Given the description of an element on the screen output the (x, y) to click on. 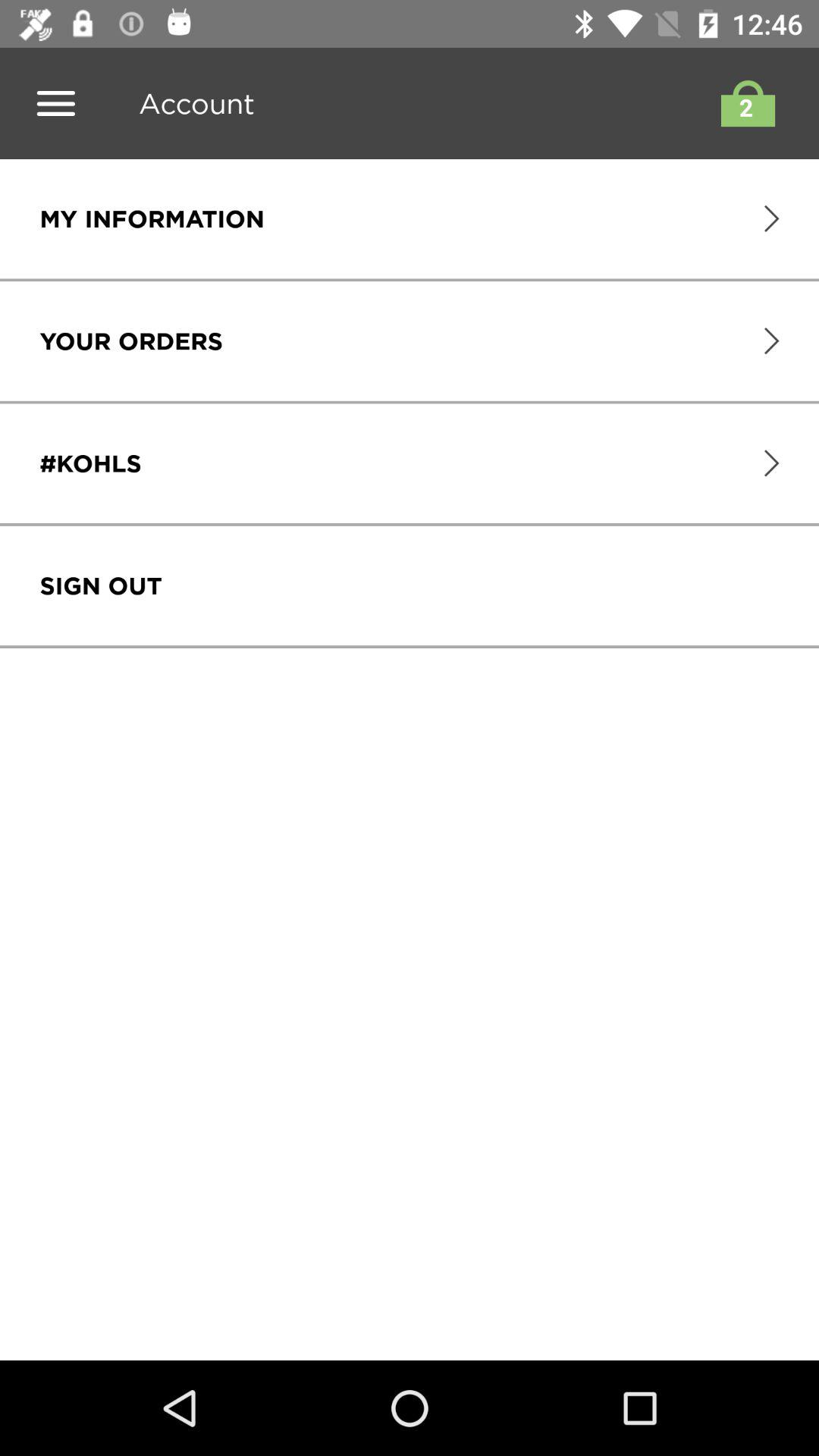
choose icon above the #kohls (130, 340)
